Given the description of an element on the screen output the (x, y) to click on. 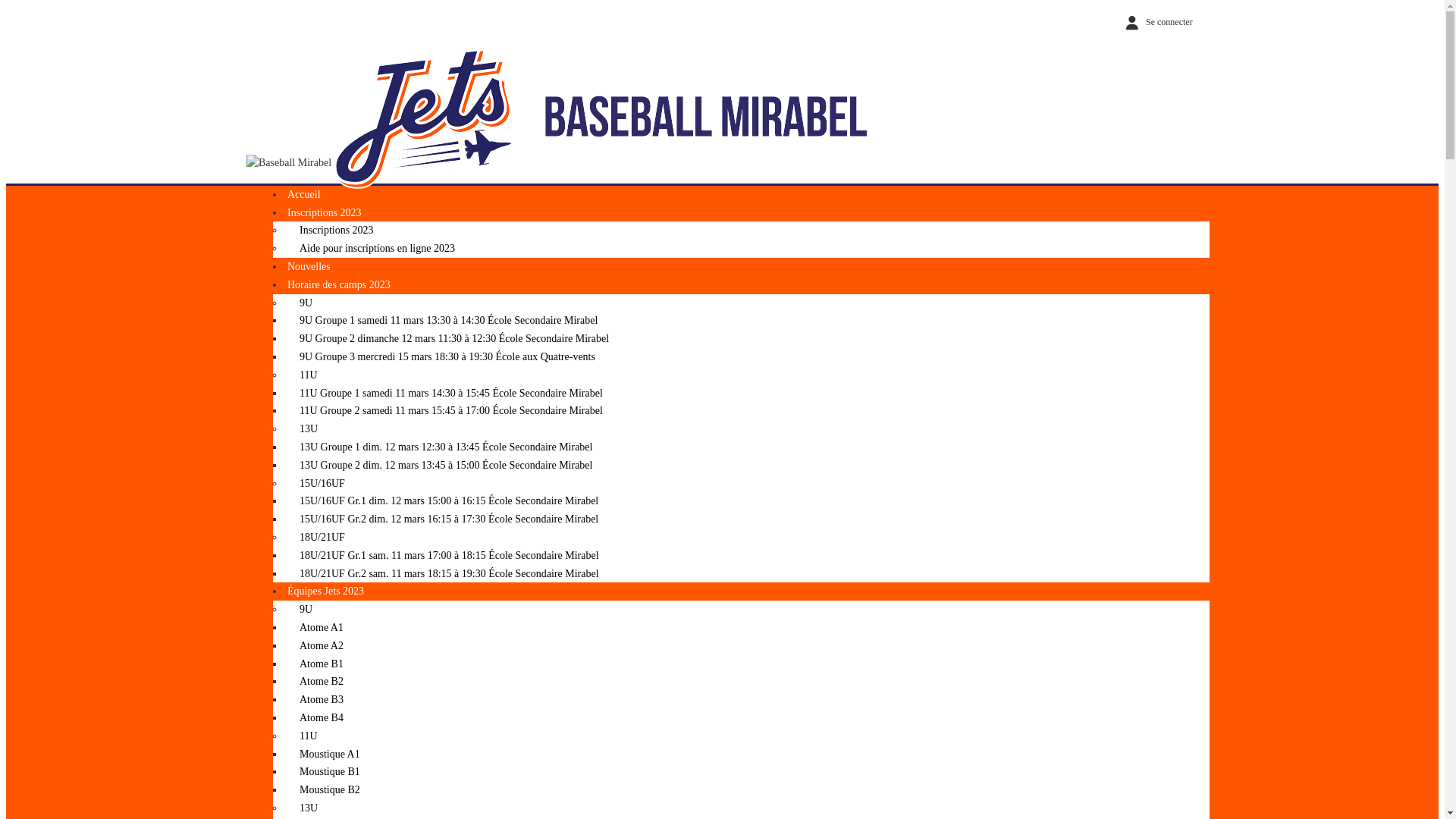
11U Element type: text (302, 735)
11U Element type: text (302, 374)
Nouvelles Element type: text (308, 266)
Atome B1 Element type: text (315, 663)
Atome A1 Element type: text (315, 627)
9U Element type: text (299, 609)
13U Element type: text (302, 428)
Se connecter Element type: text (1155, 21)
Atome B2 Element type: text (315, 681)
15U/16UF Element type: text (316, 483)
9U Element type: text (299, 302)
Accueil Element type: text (303, 194)
18U/21UF Element type: text (316, 536)
Aide pour inscriptions en ligne 2023 Element type: text (371, 248)
Atome B3 Element type: text (315, 699)
Horaire des camps 2023 Element type: text (338, 284)
Moustique B2 Element type: text (323, 789)
Moustique B1 Element type: text (323, 771)
Atome B4 Element type: text (315, 717)
Atome A2 Element type: text (315, 645)
Inscriptions 2023 Element type: text (324, 212)
13U Element type: text (302, 807)
Moustique A1 Element type: text (323, 753)
Inscriptions 2023 Element type: text (330, 229)
